Given the description of an element on the screen output the (x, y) to click on. 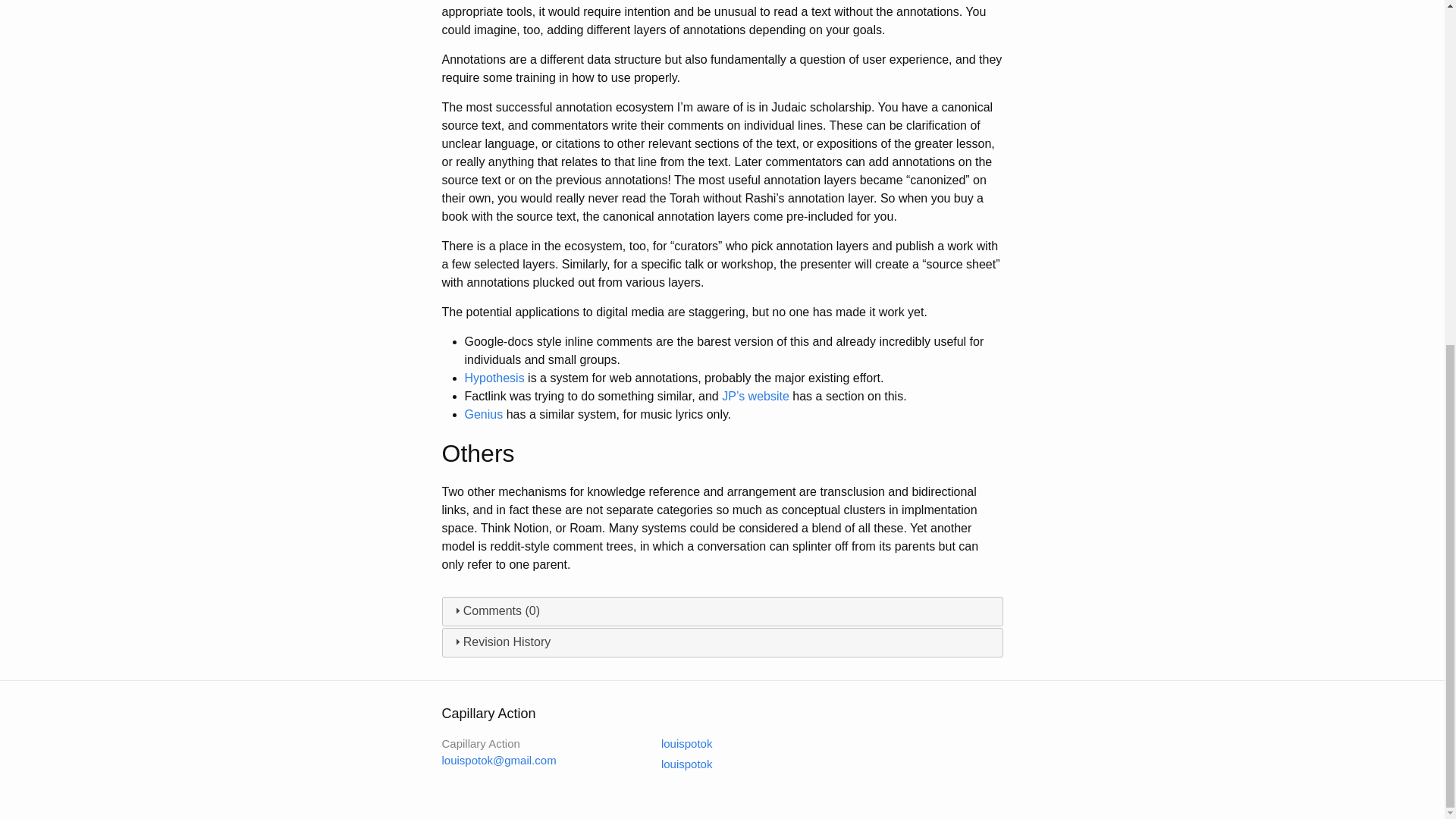
Hypothesis (494, 377)
louispotok (677, 763)
Genius (483, 413)
louispotok (677, 743)
